Given the description of an element on the screen output the (x, y) to click on. 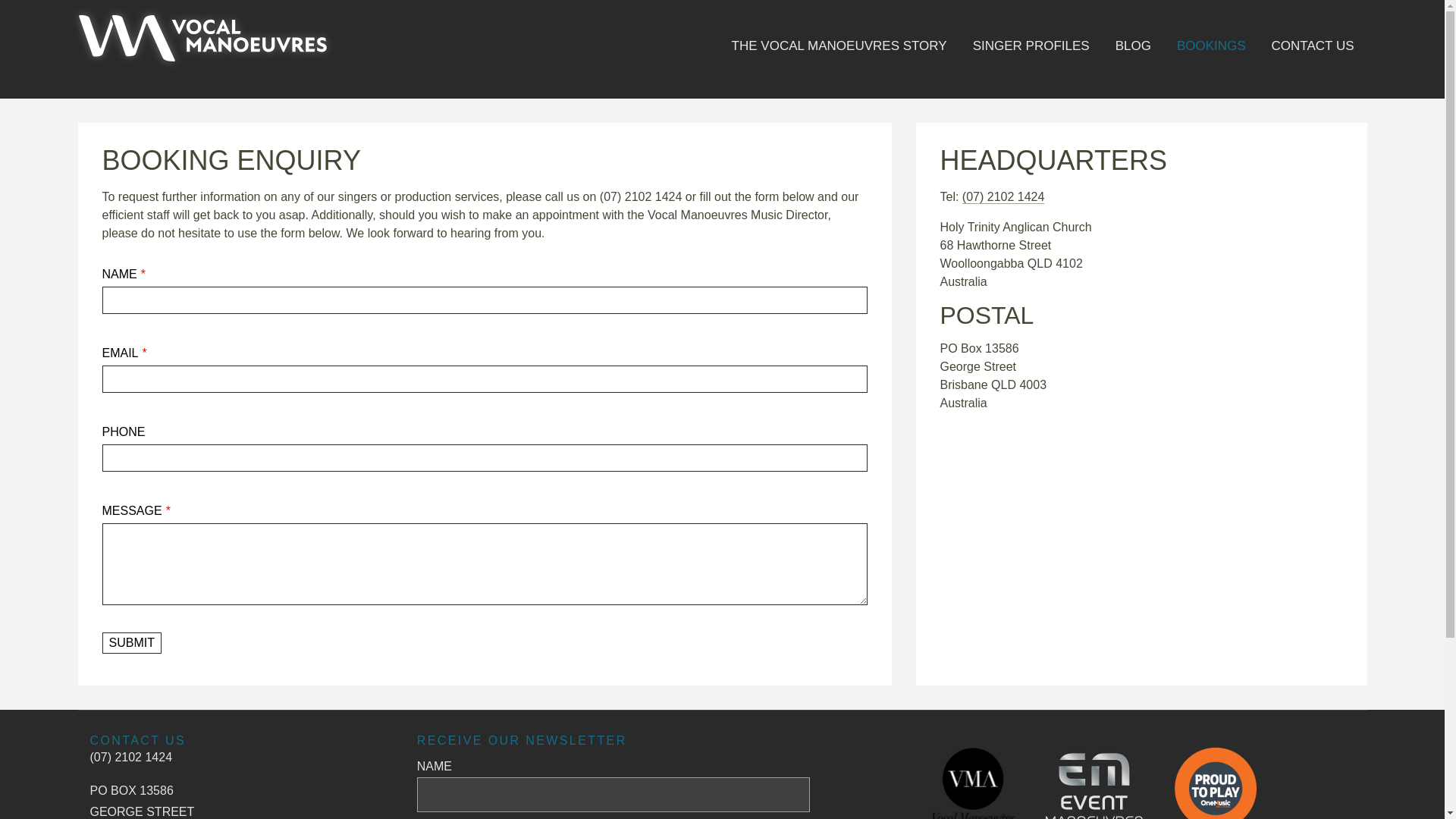
(07) 2102 1424 Element type: text (130, 756)
BOOKINGS Element type: text (1211, 52)
CONTACT US Element type: text (1312, 52)
Vocal Manoeuvres (en-AU) Element type: text (201, 43)
(07) 2102 1424 Element type: text (1003, 196)
CONTACT US Element type: text (137, 740)
SINGER PROFILES Element type: text (1031, 52)
BLOG Element type: text (1133, 52)
THE VOCAL MANOEUVRES STORY Element type: text (839, 52)
SUBMIT Element type: text (130, 642)
